Given the description of an element on the screen output the (x, y) to click on. 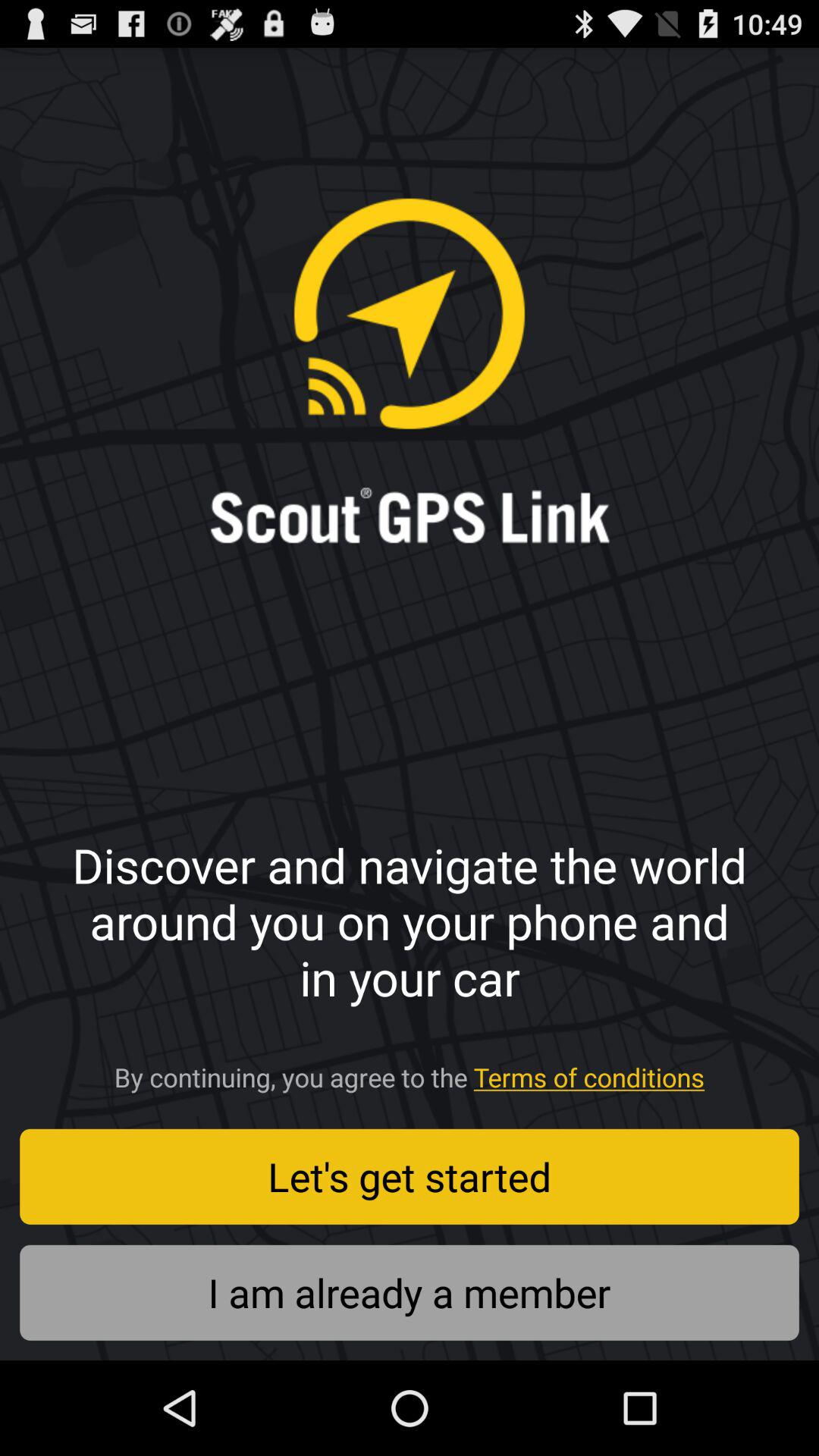
click the let s get icon (409, 1176)
